Given the description of an element on the screen output the (x, y) to click on. 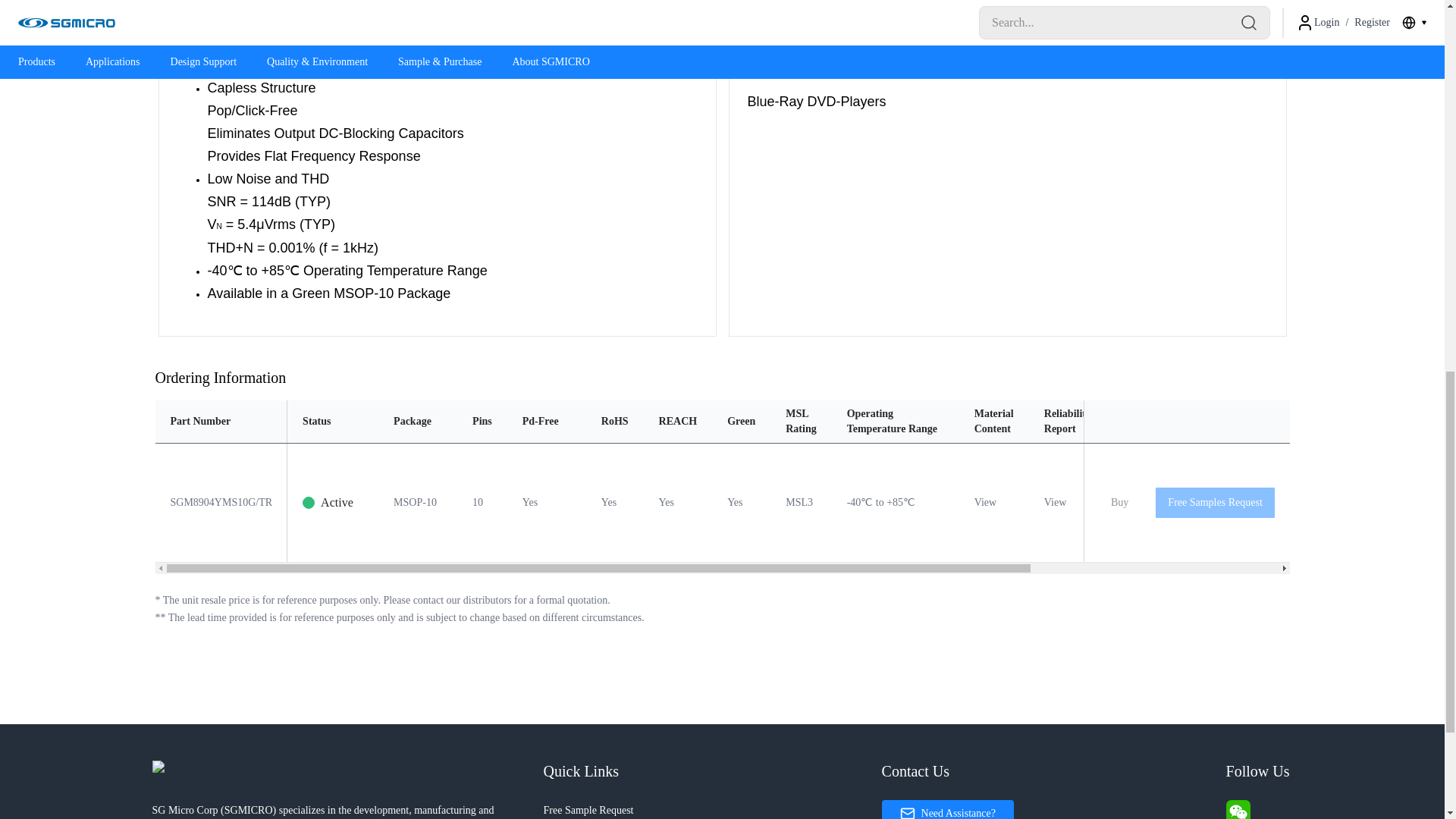
Free Sample Request (711, 809)
Buy (1119, 502)
Free Samples Request (1215, 502)
Need Assistance? (947, 809)
